Given the description of an element on the screen output the (x, y) to click on. 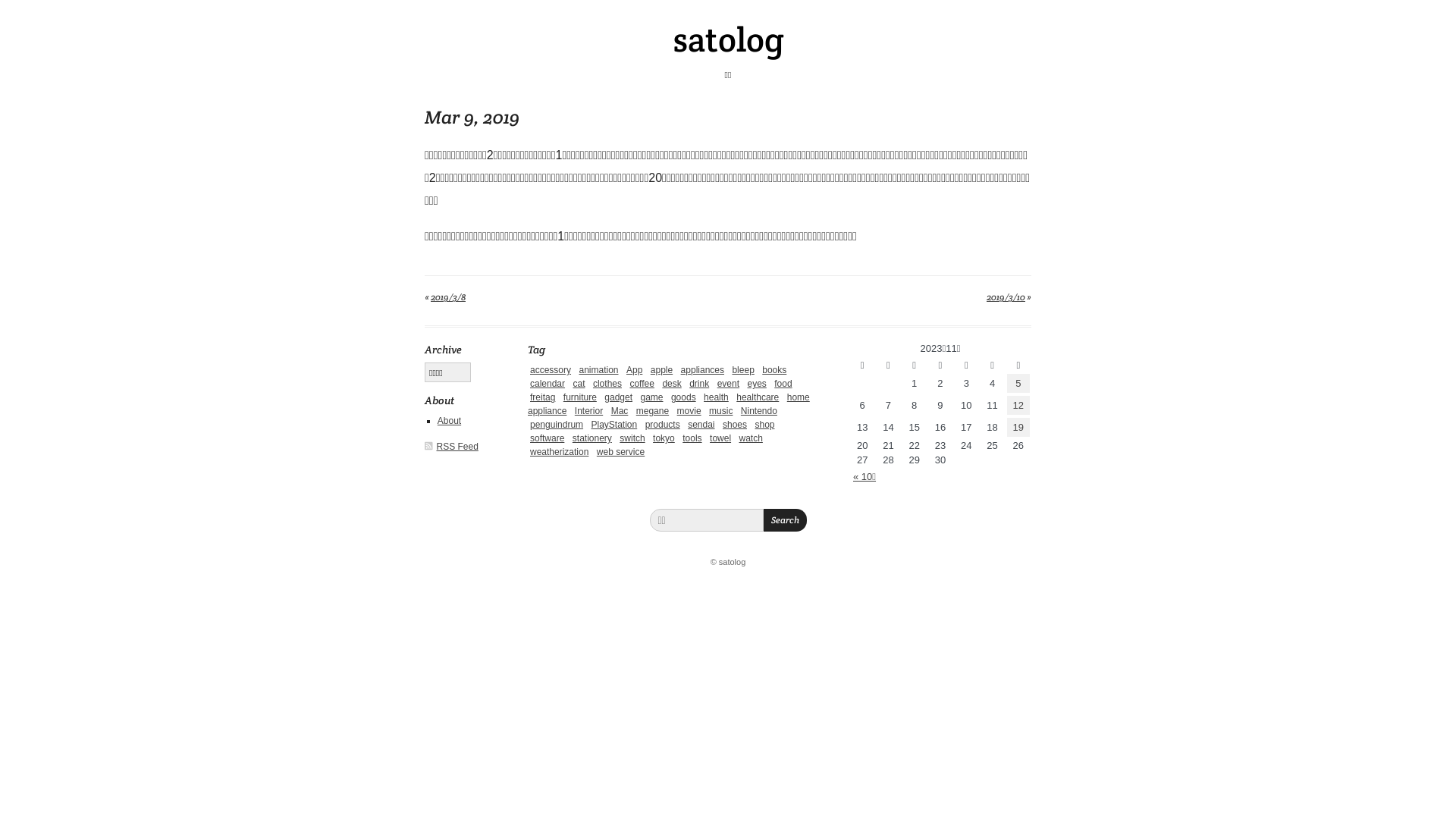
About Element type: text (449, 420)
sendai Element type: text (700, 424)
music Element type: text (720, 410)
towel Element type: text (720, 438)
goods Element type: text (683, 397)
drink Element type: text (699, 383)
2019/3/10 Element type: text (1005, 296)
Nintendo Element type: text (758, 410)
books Element type: text (774, 369)
penguindrum Element type: text (556, 424)
movie Element type: text (689, 410)
gadget Element type: text (618, 397)
stationery Element type: text (591, 438)
bleep Element type: text (742, 369)
products Element type: text (662, 424)
weatherization Element type: text (559, 451)
web service Element type: text (620, 451)
coffee Element type: text (641, 383)
12 Element type: text (1018, 404)
Search Element type: text (784, 519)
home appliance Element type: text (668, 404)
Mac Element type: text (619, 410)
apple Element type: text (661, 369)
desk Element type: text (671, 383)
furniture Element type: text (579, 397)
game Element type: text (651, 397)
clothes Element type: text (607, 383)
satolog Element type: text (727, 39)
shoes Element type: text (734, 424)
watch Element type: text (750, 438)
RSS Feed Element type: text (457, 446)
tokyo Element type: text (663, 438)
software Element type: text (547, 438)
tools Element type: text (691, 438)
healthcare Element type: text (757, 397)
calendar Element type: text (547, 383)
appliances Element type: text (702, 369)
19 Element type: text (1018, 426)
Interior Element type: text (588, 410)
5 Element type: text (1018, 382)
shop Element type: text (764, 424)
eyes Element type: text (755, 383)
megane Element type: text (652, 410)
freitag Element type: text (542, 397)
accessory Element type: text (550, 369)
event Element type: text (728, 383)
food Element type: text (782, 383)
animation Element type: text (598, 369)
health Element type: text (715, 397)
App Element type: text (634, 369)
PlayStation Element type: text (614, 424)
2019/3/8 Element type: text (447, 296)
cat Element type: text (578, 383)
switch Element type: text (631, 438)
